Given the description of an element on the screen output the (x, y) to click on. 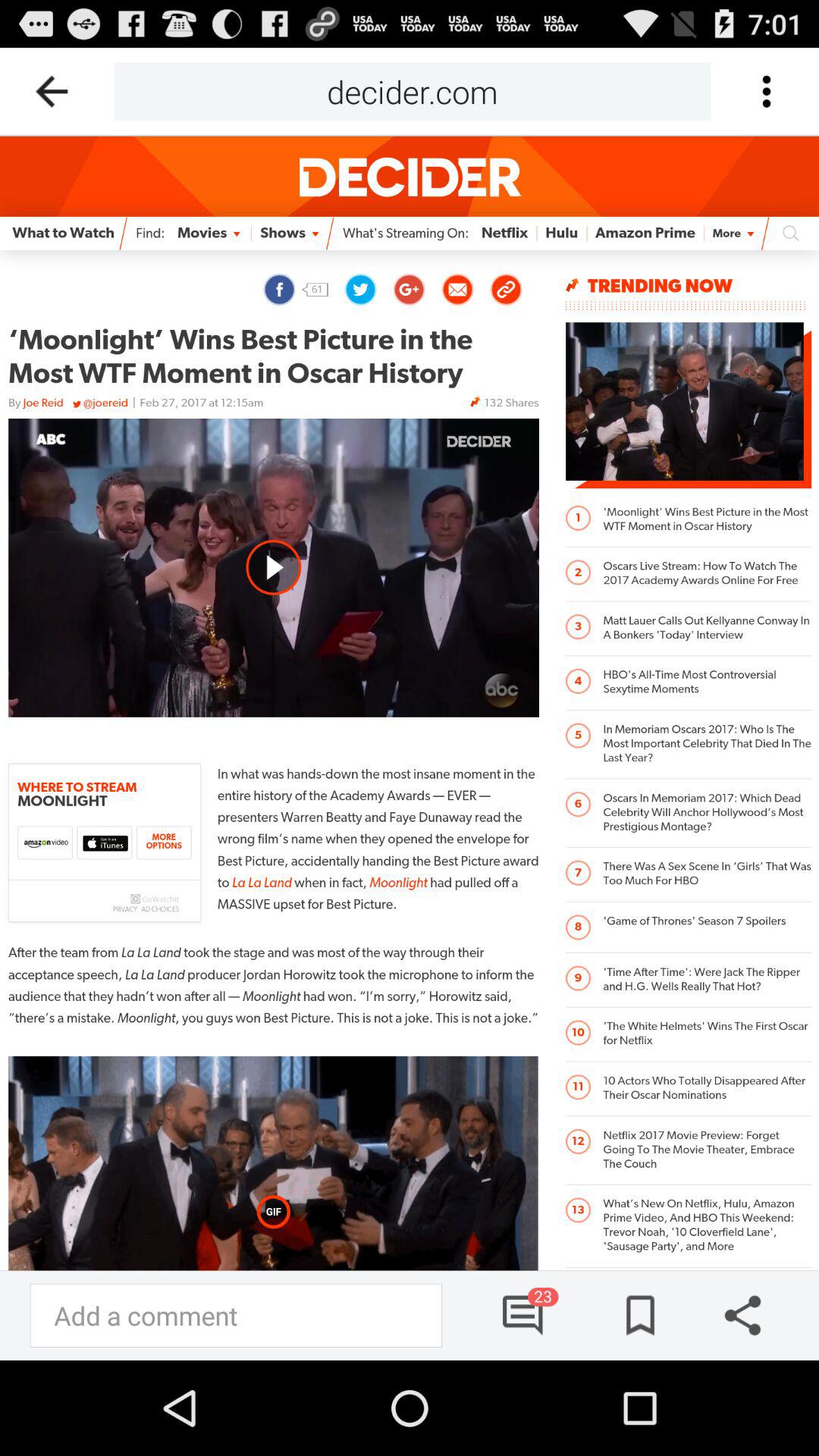
view comments (523, 1315)
